Given the description of an element on the screen output the (x, y) to click on. 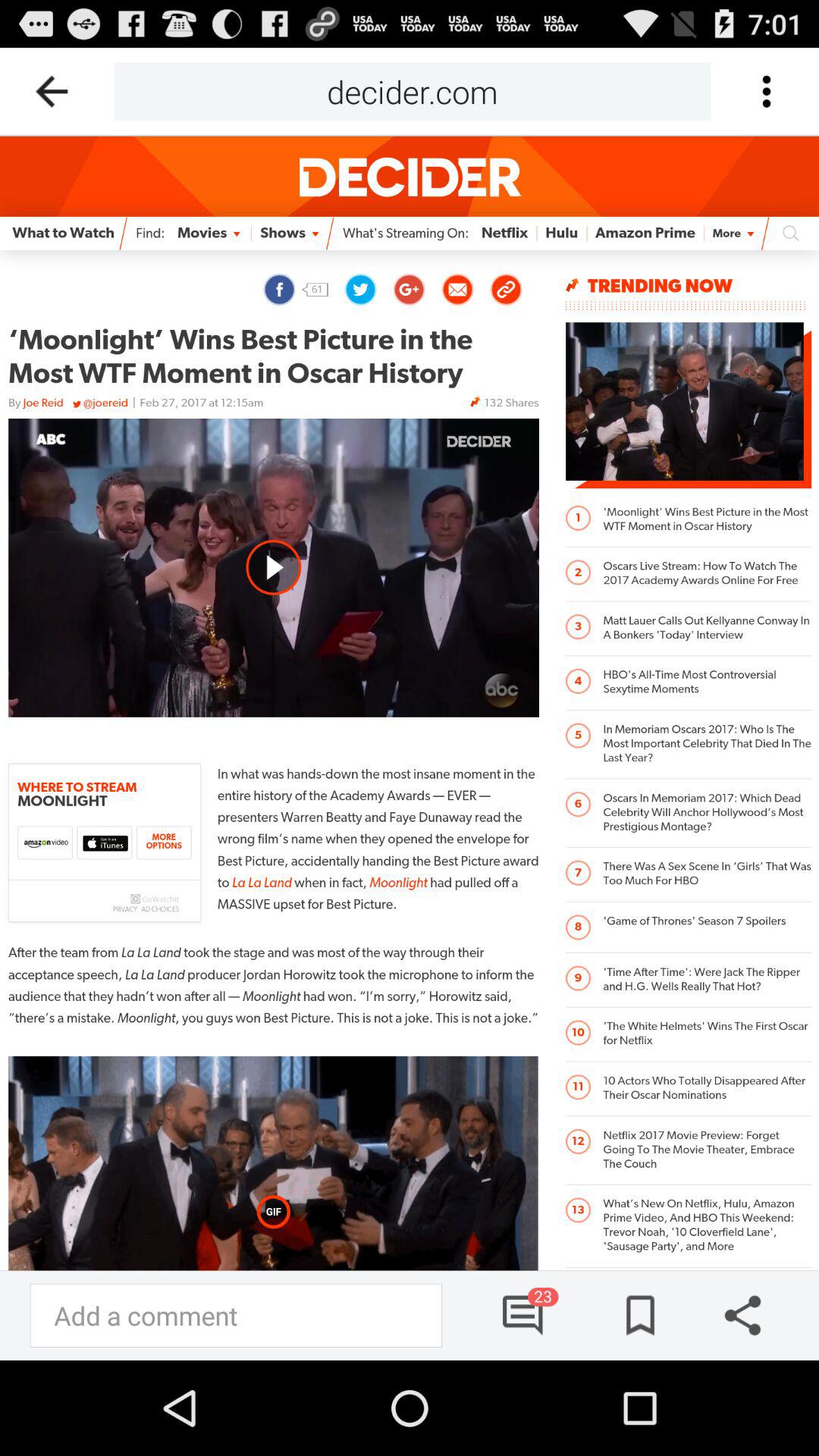
view comments (523, 1315)
